Given the description of an element on the screen output the (x, y) to click on. 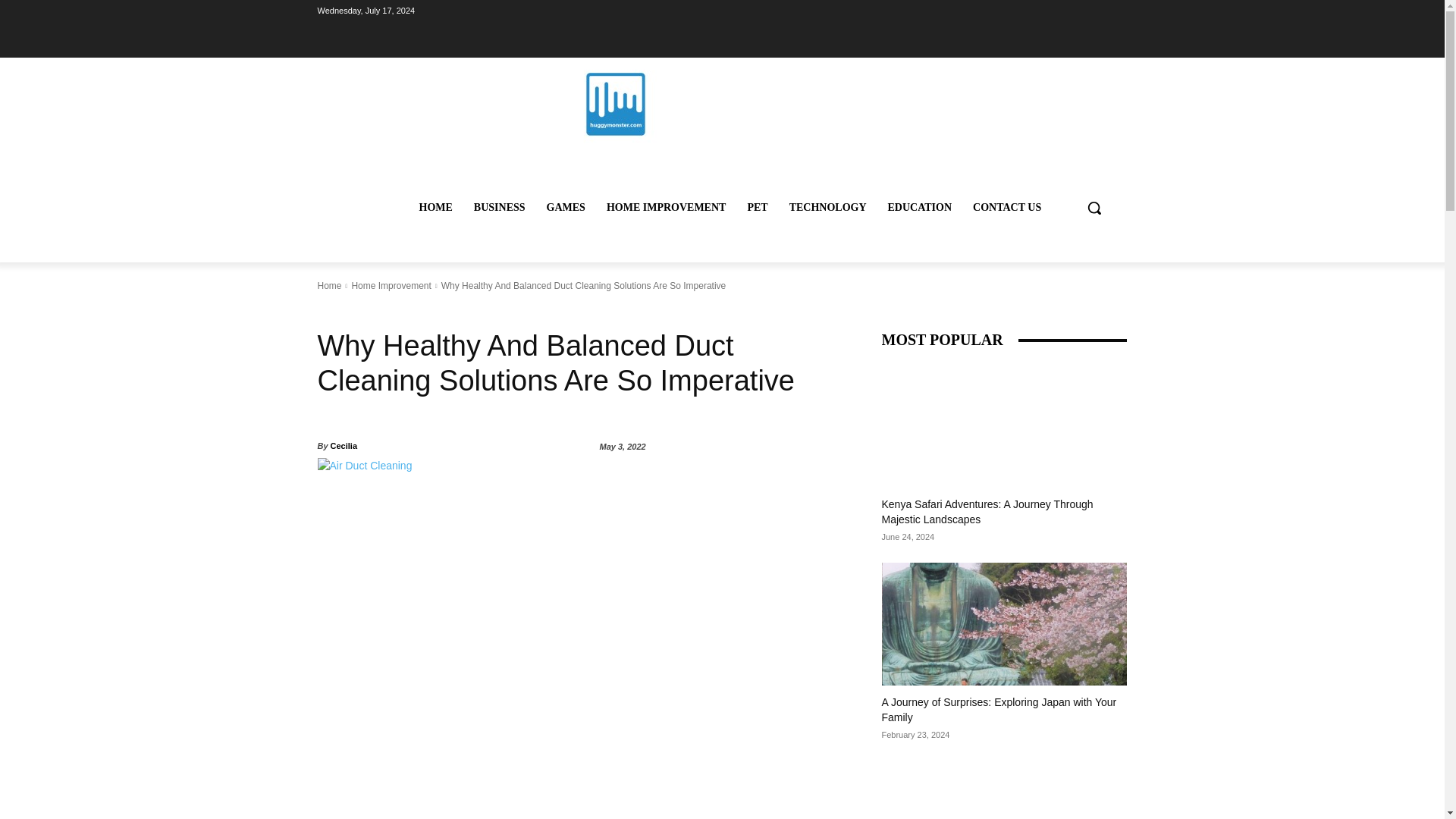
View all posts in Home Improvement (390, 285)
HOME (435, 207)
Home Improvement (390, 285)
CONTACT US (1006, 207)
Home (328, 285)
BUSINESS (499, 207)
Cecilia (343, 445)
TECHNOLOGY (827, 207)
A Journey of Surprises: Exploring Japan with Your Family (1003, 623)
HOME IMPROVEMENT (665, 207)
EDUCATION (919, 207)
PET (756, 207)
A Journey of Surprises: Exploring Japan with Your Family (998, 709)
